Given the description of an element on the screen output the (x, y) to click on. 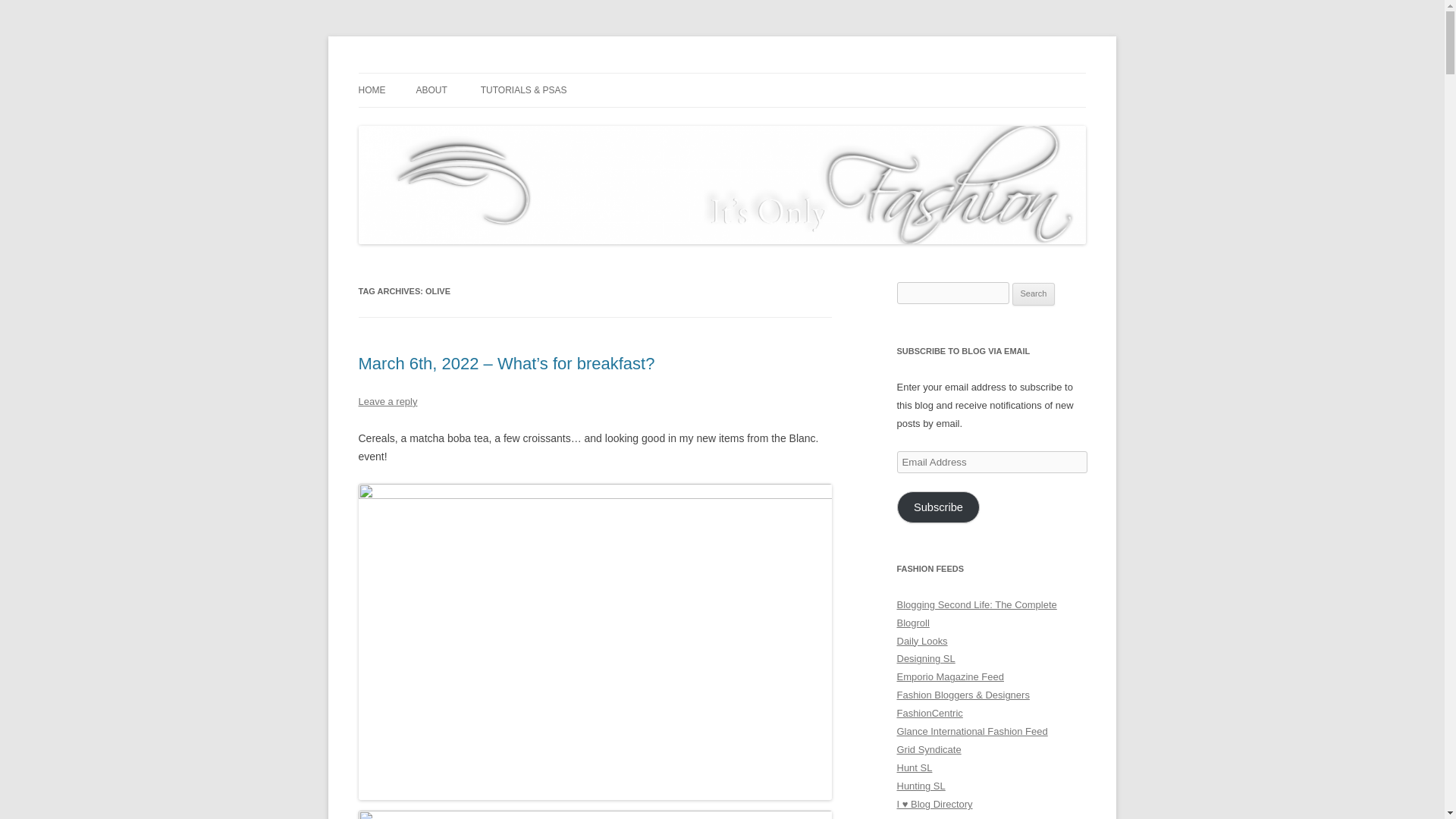
Its Only Fashion (434, 72)
ABOUT (430, 90)
Search (1033, 293)
Leave a reply (387, 401)
